Given the description of an element on the screen output the (x, y) to click on. 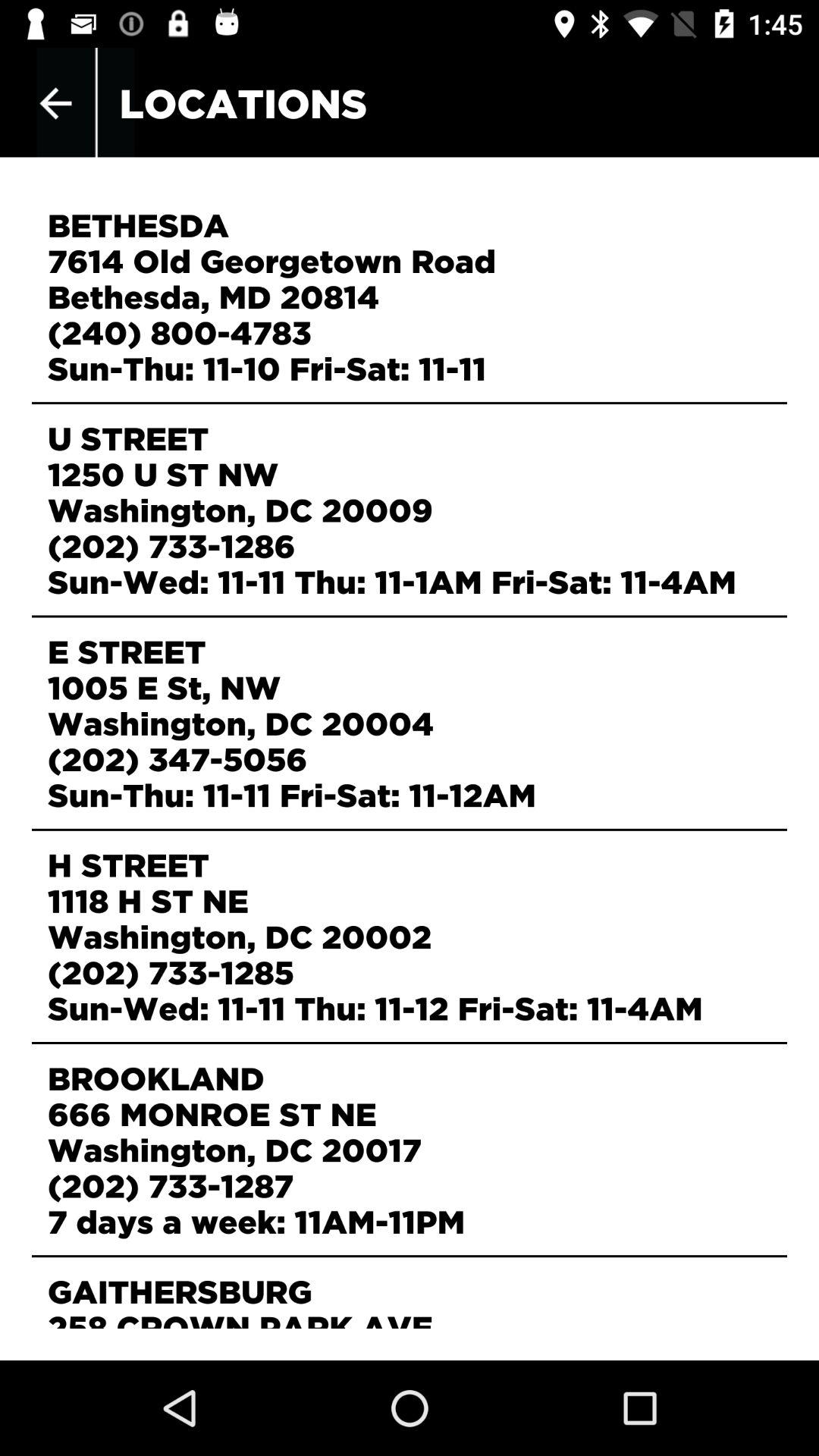
turn off item to the left of the locations item (55, 103)
